Given the description of an element on the screen output the (x, y) to click on. 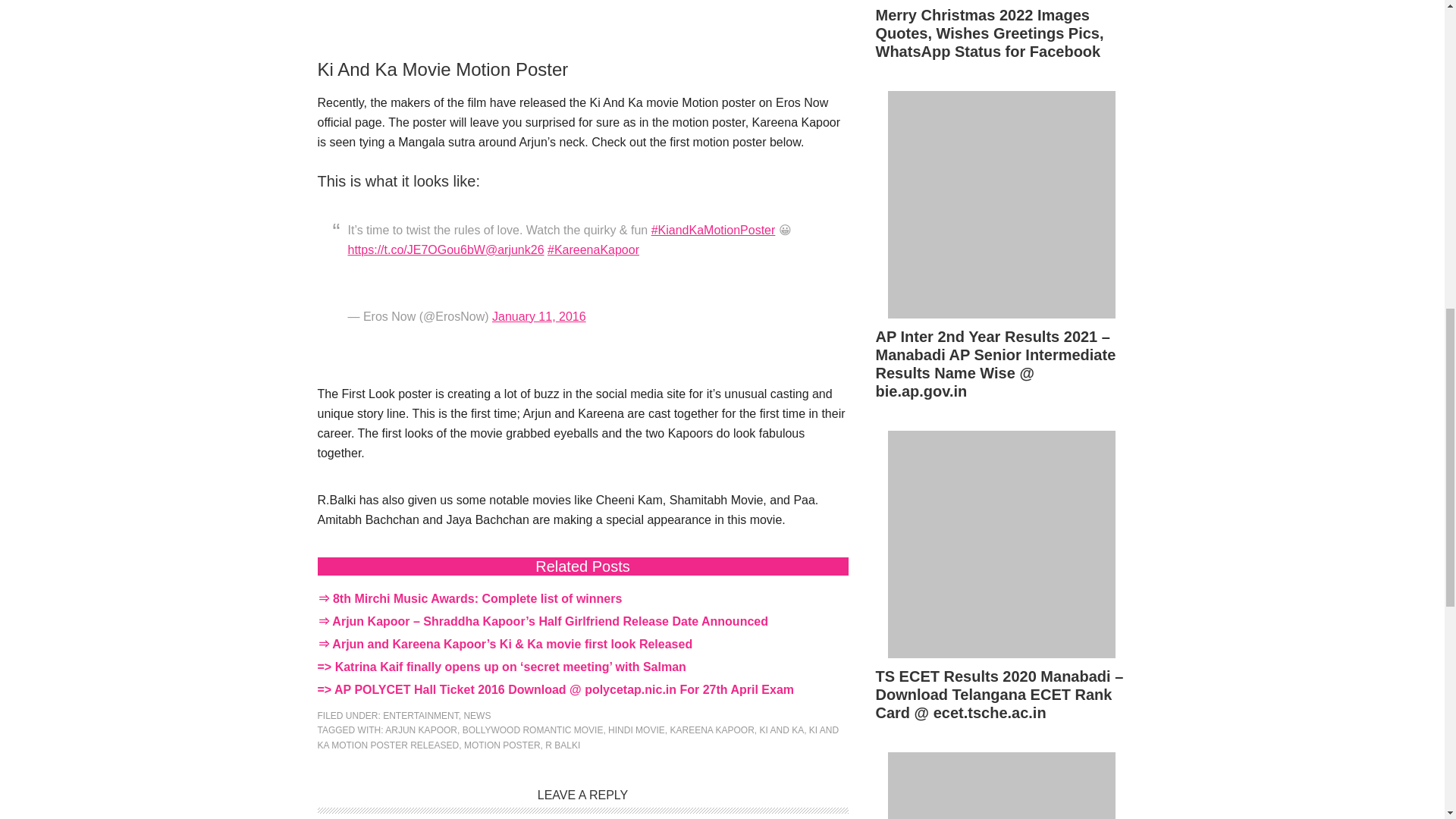
BOLLYWOOD ROMANTIC MOVIE (533, 729)
MOTION POSTER (502, 745)
KI AND KA (782, 729)
R BALKI (561, 745)
HINDI MOVIE (636, 729)
8th Mirchi Music Awards: Complete list of winners (477, 598)
Advertisement (582, 22)
ENTERTAINMENT (420, 715)
KAREENA KAPOOR (711, 729)
